Given the description of an element on the screen output the (x, y) to click on. 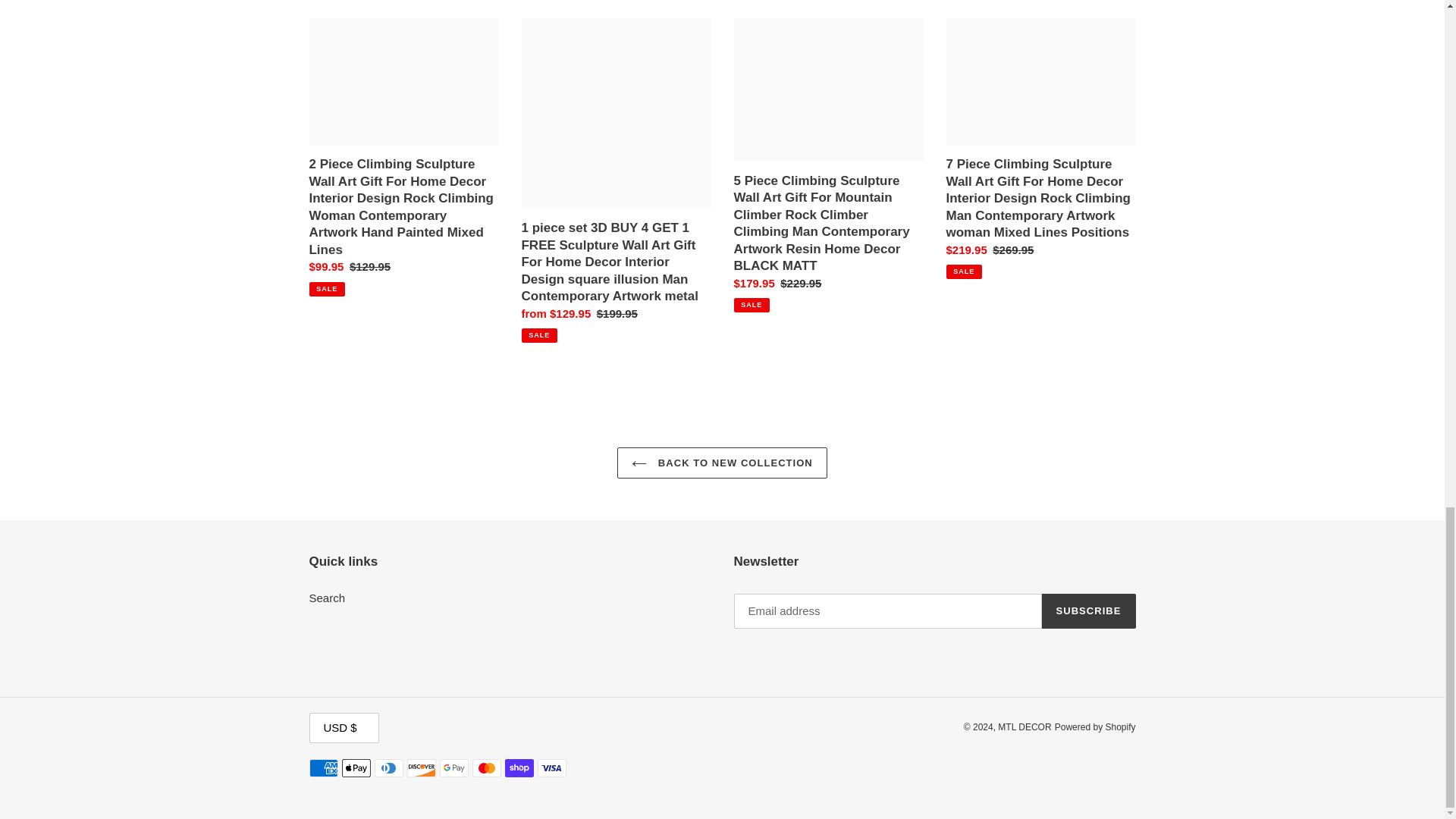
MTL DECOR (1024, 726)
BACK TO NEW COLLECTION (722, 463)
SUBSCRIBE (1088, 610)
Search (327, 597)
Powered by Shopify (1094, 726)
